Given the description of an element on the screen output the (x, y) to click on. 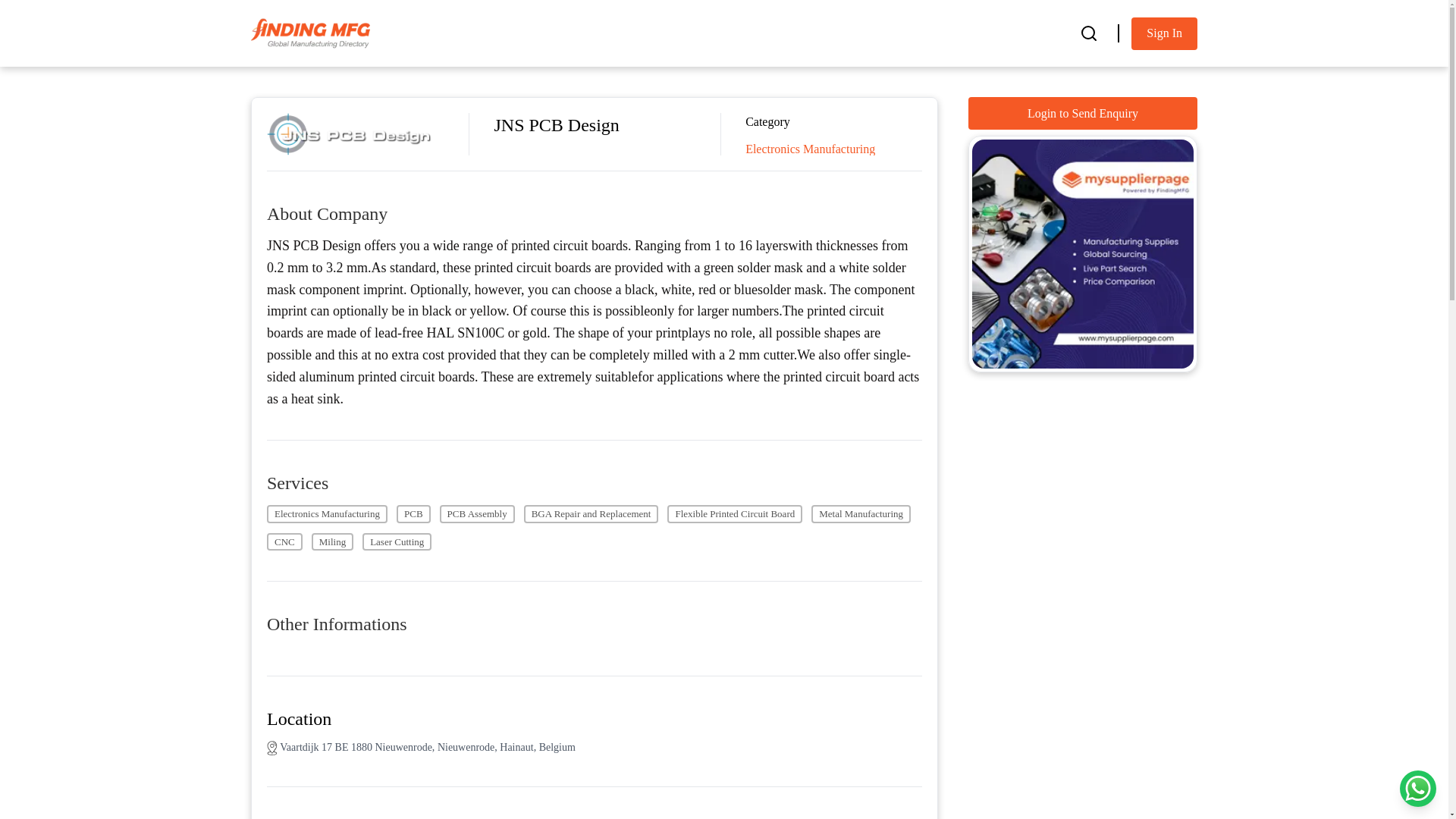
Miling (332, 541)
Laser Cutting (396, 541)
BGA Repair and Replacement (591, 514)
PCB (413, 514)
Miling (332, 542)
CNC (284, 542)
Flexible Printed Circuit Board (734, 513)
Electronics Manufacturing (326, 514)
Metal Manufacturing (860, 513)
Search (1088, 33)
Sign In (1163, 32)
Flexible Printed Circuit Board (734, 514)
BGA Repair and Replacement (591, 513)
Login to Send Enquiry (1082, 113)
Metal Manufacturing (860, 514)
